Given the description of an element on the screen output the (x, y) to click on. 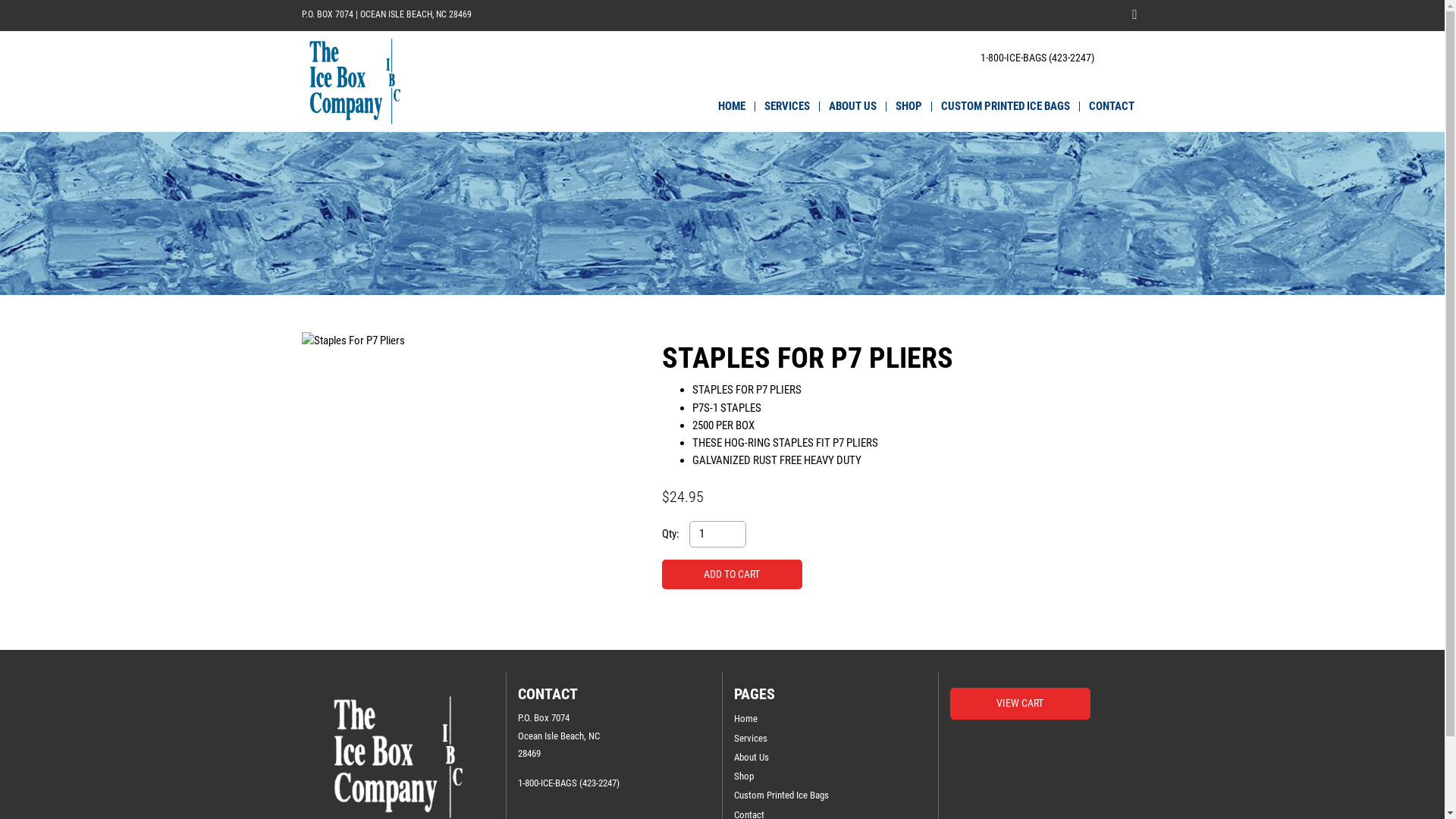
SHOP Element type: text (907, 106)
VIEW CART Element type: text (1019, 702)
SERVICES Element type: text (786, 106)
About Us Element type: text (830, 756)
1-800-ICE-BAGS (423-2247) Element type: text (1036, 57)
Shop Element type: text (830, 775)
The Ice Box Company Element type: hover (354, 81)
Add to Cart Element type: text (731, 574)
1-800-ICE-BAGS (423-2247) Element type: text (567, 782)
Home Element type: text (830, 718)
CONTACT Element type: text (1111, 106)
HOME Element type: text (730, 106)
Custom Printed Ice Bags Element type: text (830, 794)
ABOUT US Element type: text (851, 106)
CUSTOM PRINTED ICE BAGS Element type: text (1004, 106)
Services Element type: text (830, 737)
